Given the description of an element on the screen output the (x, y) to click on. 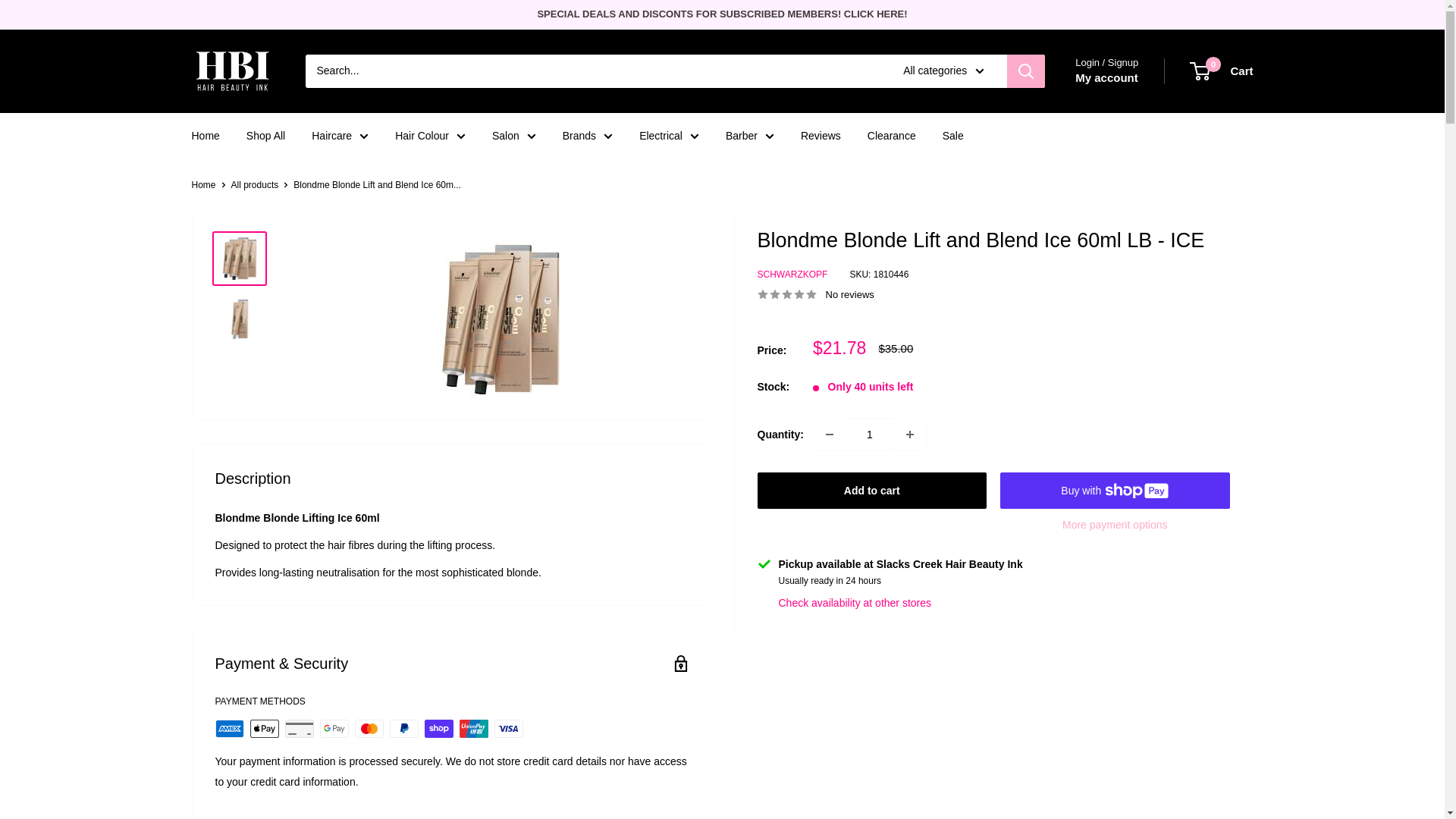
SCHWARZKOPF Element type: text (791, 274)
Check availability at other stores Element type: text (854, 602)
More payment options Element type: text (1115, 524)
HairBeautyInk Element type: text (232, 70)
Shop All Element type: text (265, 135)
Reviews Element type: text (820, 135)
Electrical Element type: text (669, 135)
0
Cart Element type: text (1221, 70)
Brands Element type: text (587, 135)
Home Element type: text (203, 184)
Barber Element type: text (749, 135)
Haircare Element type: text (339, 135)
Sale Element type: text (952, 135)
Increase quantity by 1 Element type: hover (909, 434)
Hair Colour Element type: text (430, 135)
Home Element type: text (205, 135)
Clearance Element type: text (891, 135)
No reviews Element type: text (814, 294)
Add to cart Element type: text (871, 490)
Salon Element type: text (514, 135)
My account Element type: text (1106, 77)
Decrease quantity by 1 Element type: hover (829, 434)
All products Element type: text (255, 184)
